Given the description of an element on the screen output the (x, y) to click on. 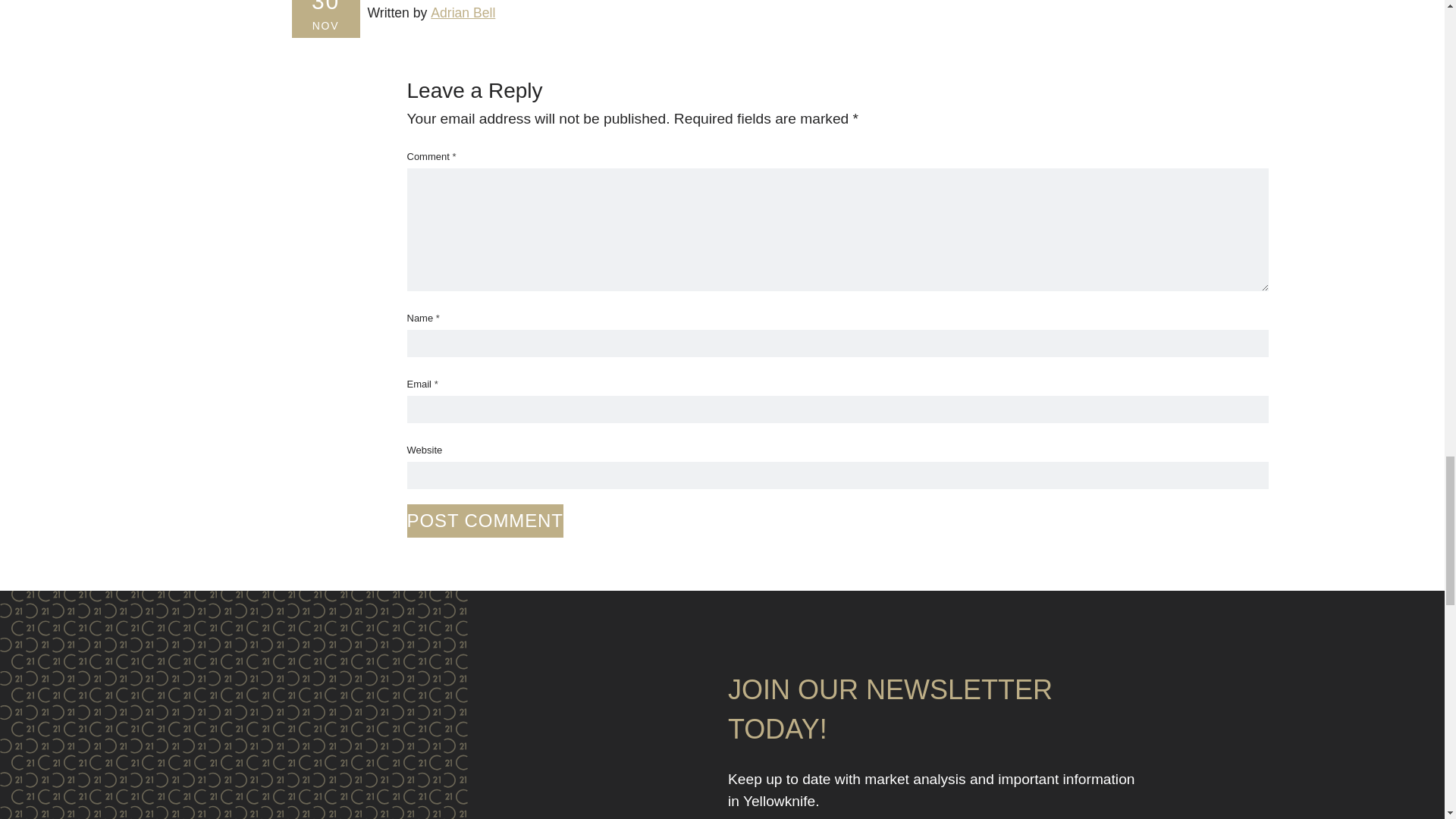
Post Comment (484, 520)
